Given the description of an element on the screen output the (x, y) to click on. 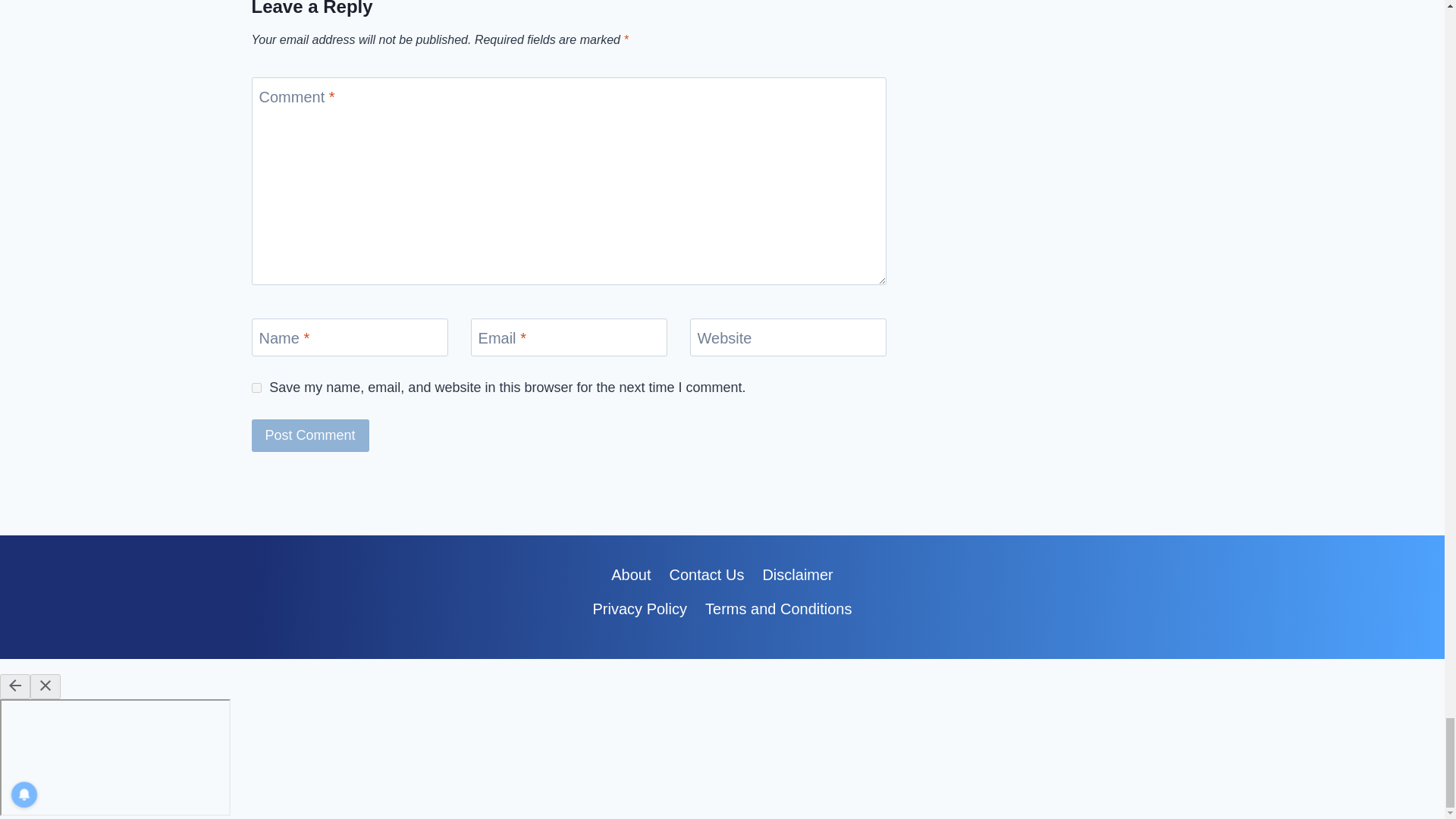
Post Comment (310, 435)
yes (256, 388)
